Given the description of an element on the screen output the (x, y) to click on. 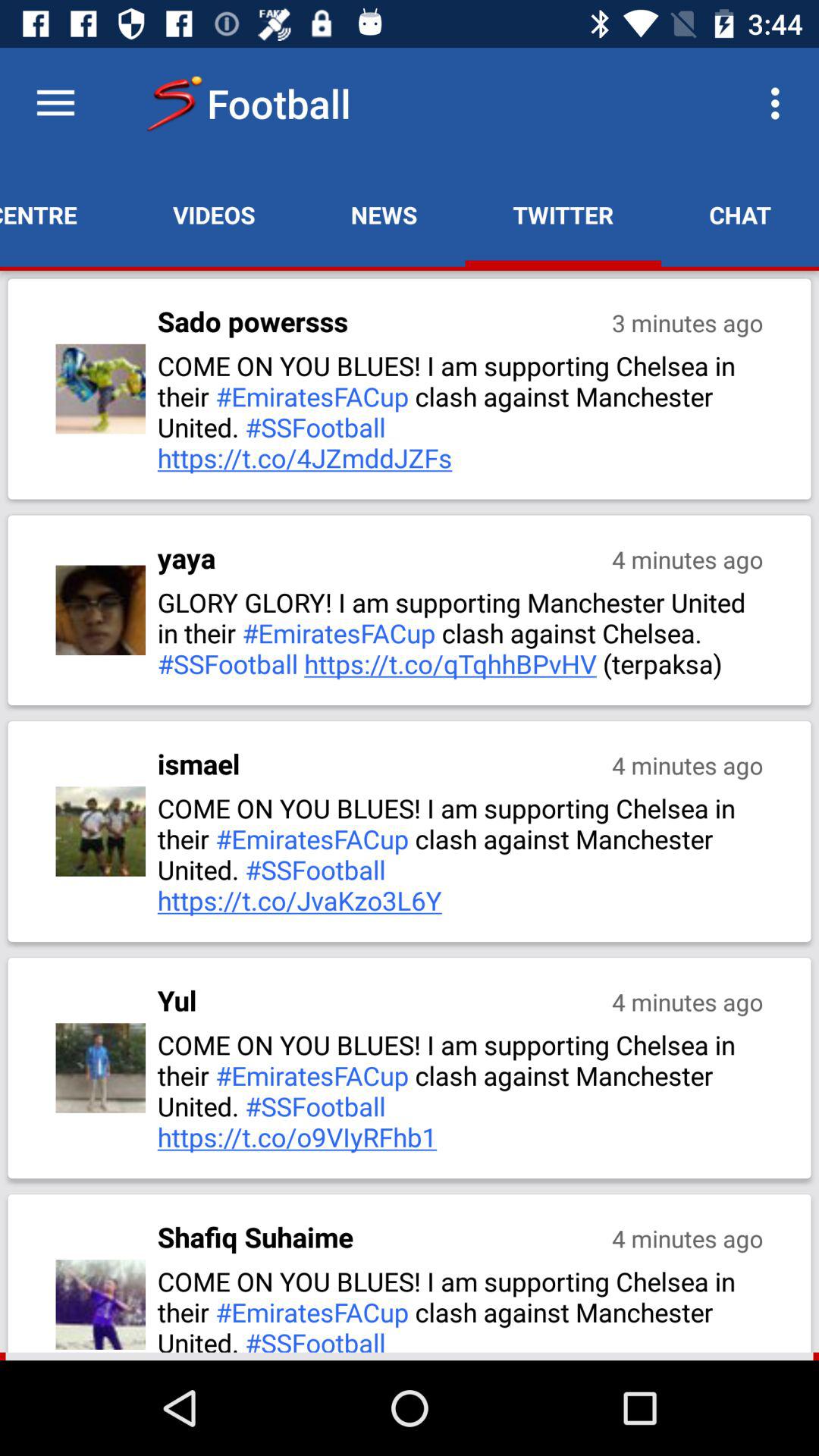
open the app to the right of twitter icon (779, 103)
